Given the description of an element on the screen output the (x, y) to click on. 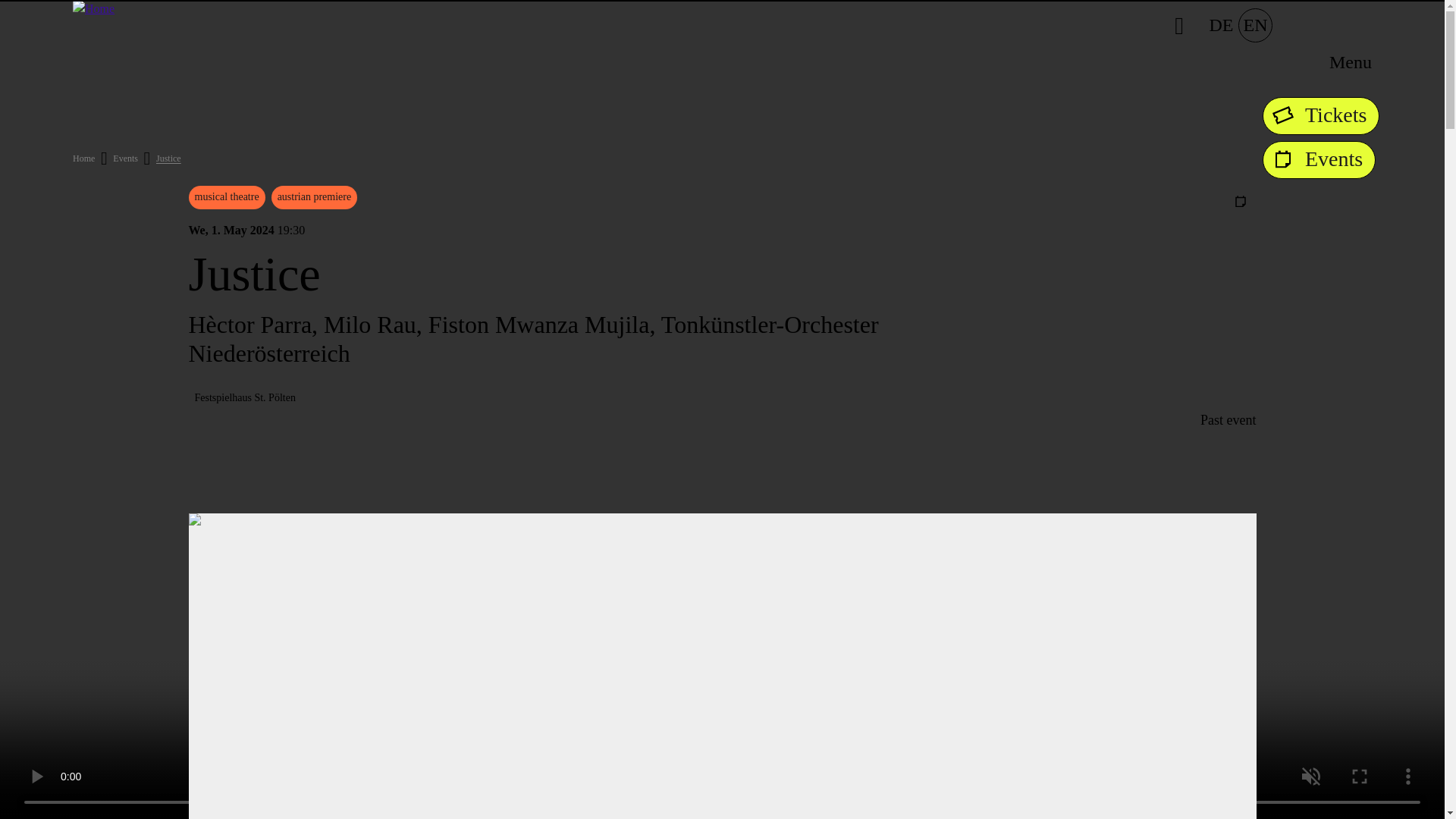
Tickets (1320, 116)
Download the ICS event calendar (1240, 200)
Home (83, 158)
Open Menu - merged (1350, 62)
Calendar (1318, 159)
DE (1221, 25)
EN (1255, 25)
Tickets (1320, 116)
Events (1318, 159)
Events (125, 158)
Justice (167, 158)
